Given the description of an element on the screen output the (x, y) to click on. 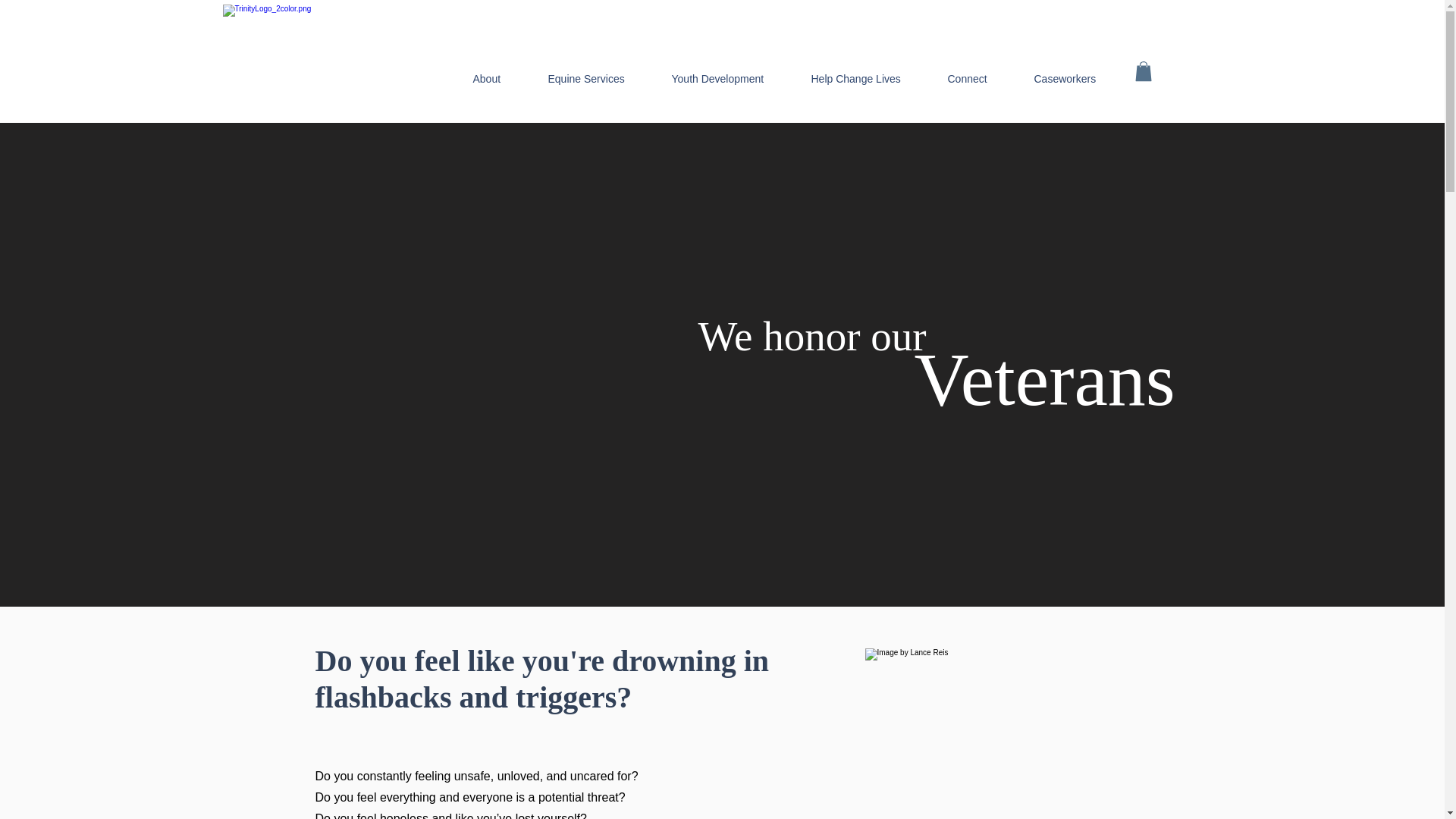
Caseworkers (1080, 78)
Connect (983, 78)
Help Change Lives (871, 78)
